Given the description of an element on the screen output the (x, y) to click on. 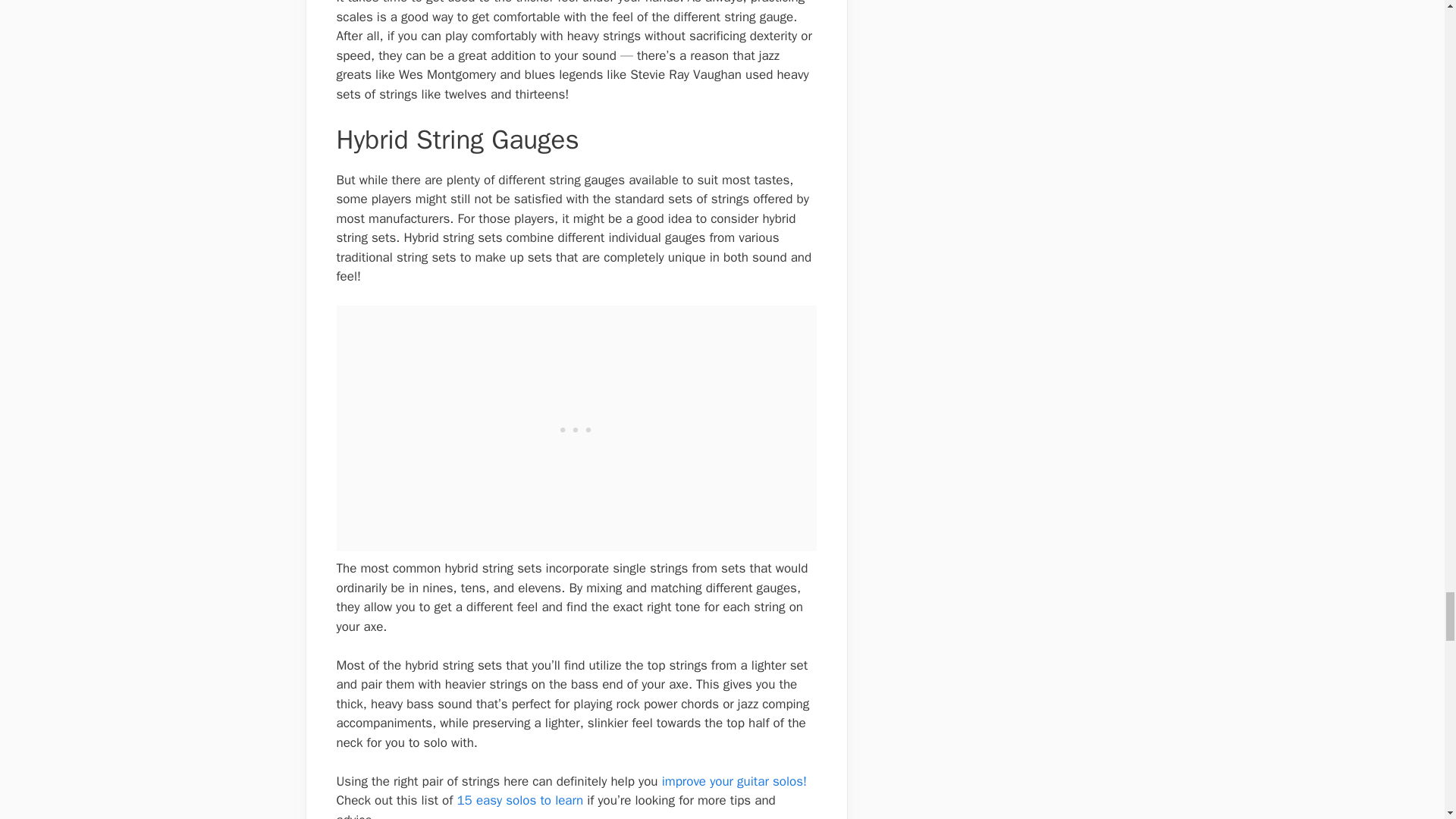
improve your guitar solos! (733, 781)
15 easy solos to learn (520, 800)
